Given the description of an element on the screen output the (x, y) to click on. 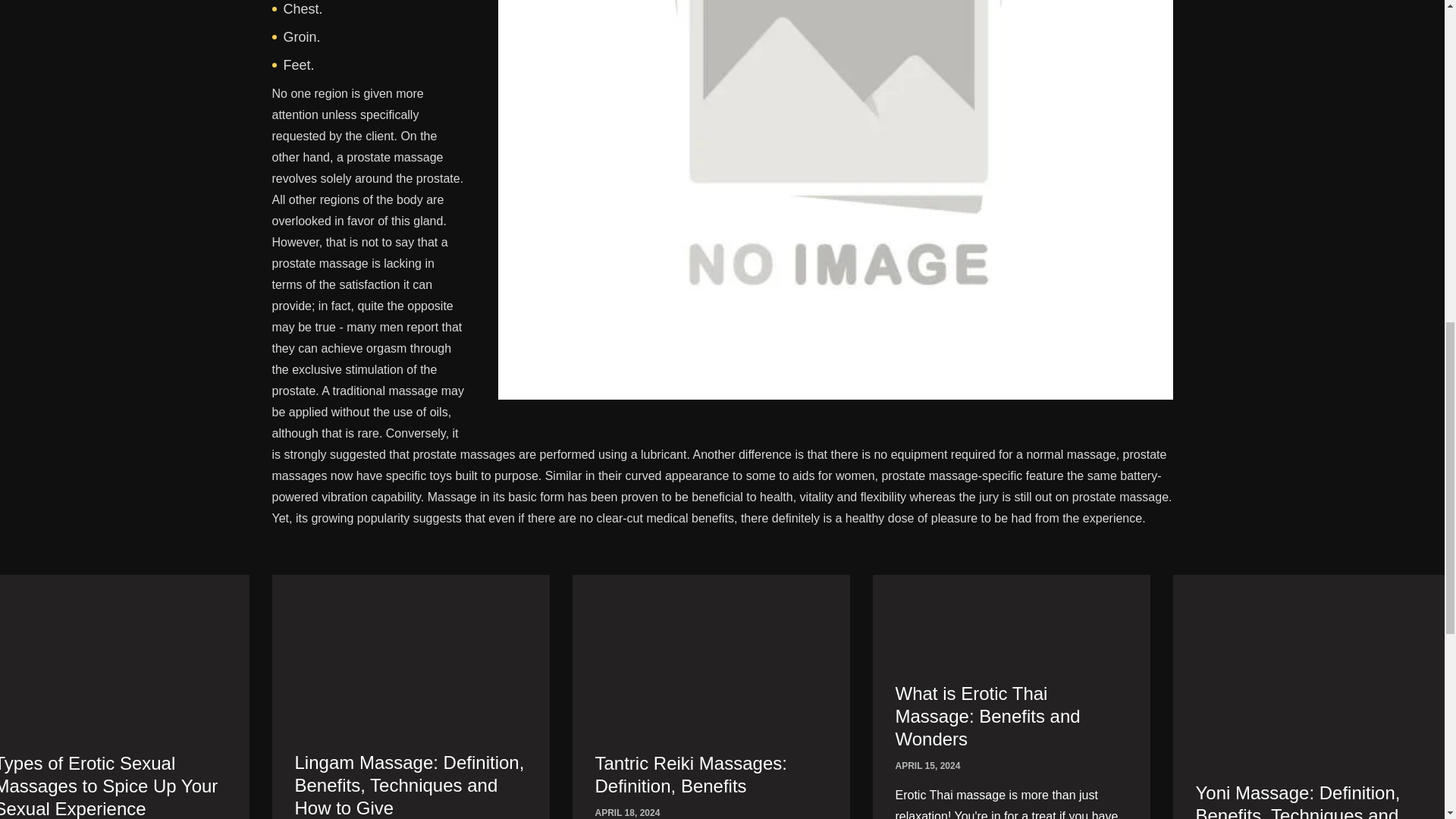
Tantric Reiki Massages: Definition, Benefits (710, 674)
What is Erotic Thai Massage: Benefits and Wonders (1010, 640)
Types de massage sexuel (112, 674)
